Given the description of an element on the screen output the (x, y) to click on. 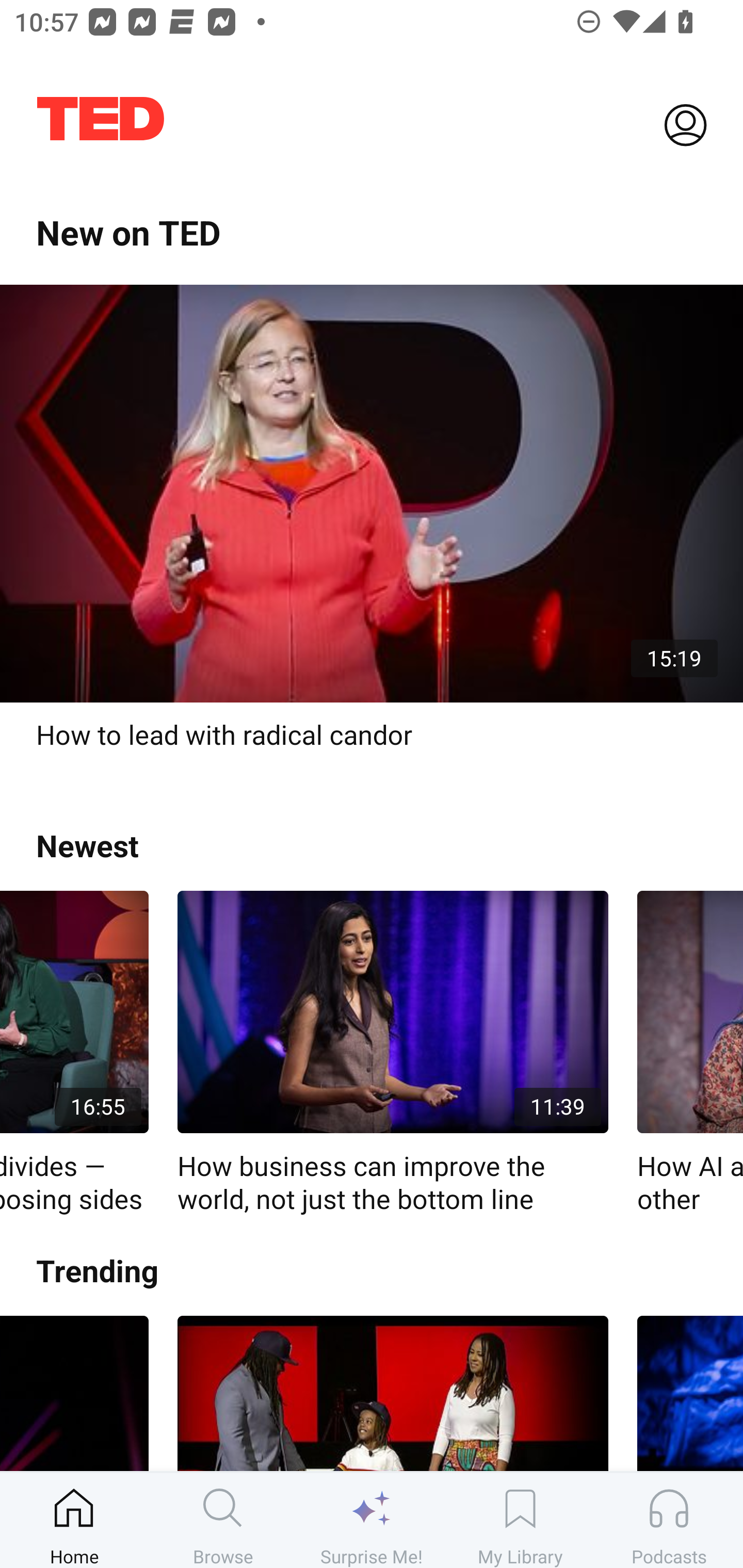
Home (74, 1520)
Browse (222, 1520)
Surprise Me! (371, 1520)
My Library (519, 1520)
Podcasts (668, 1520)
